Given the description of an element on the screen output the (x, y) to click on. 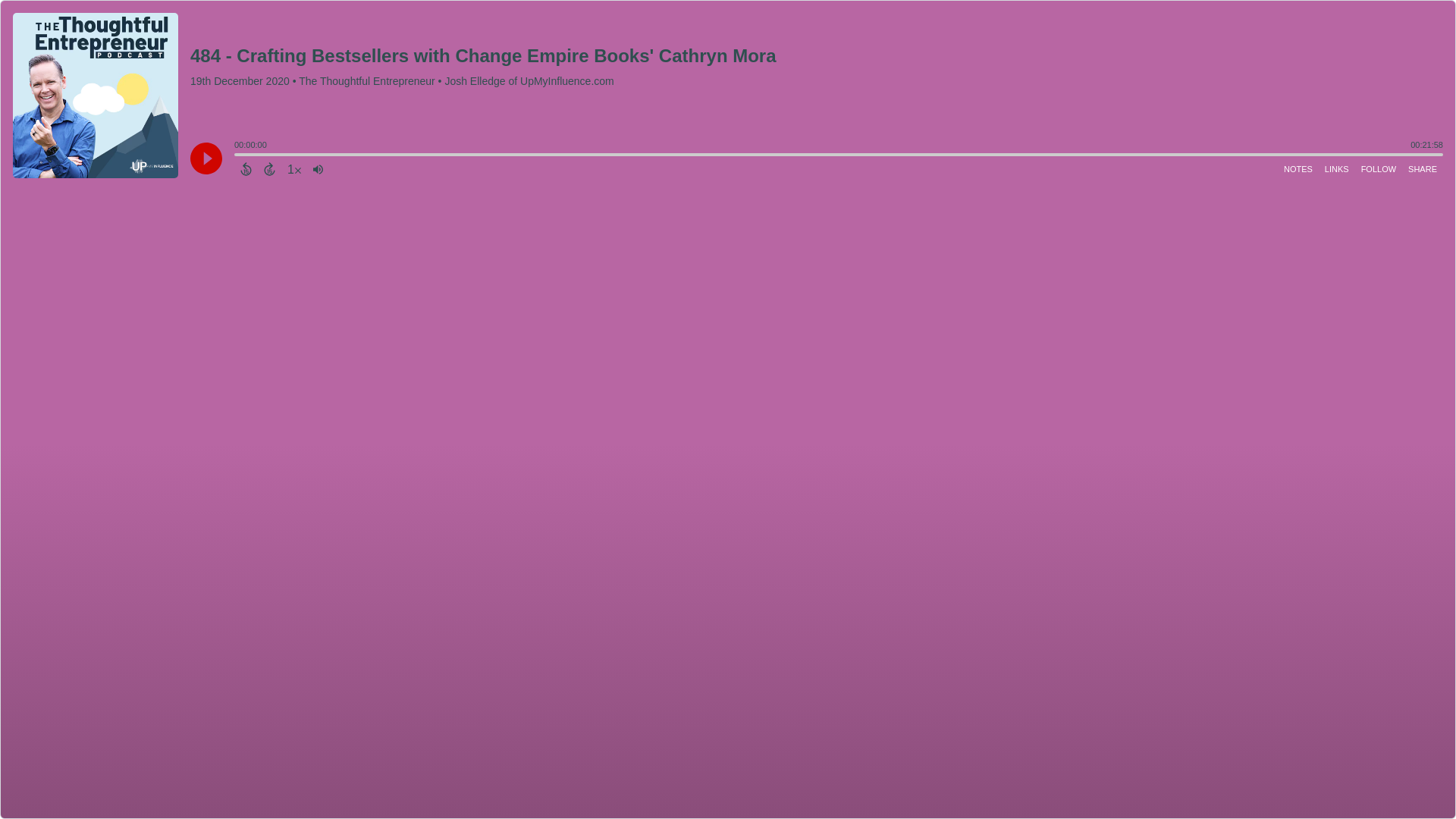
SHARE (1422, 168)
LINKS (1337, 168)
1 (294, 168)
FOLLOW (1378, 168)
NOTES (1298, 168)
